Given the description of an element on the screen output the (x, y) to click on. 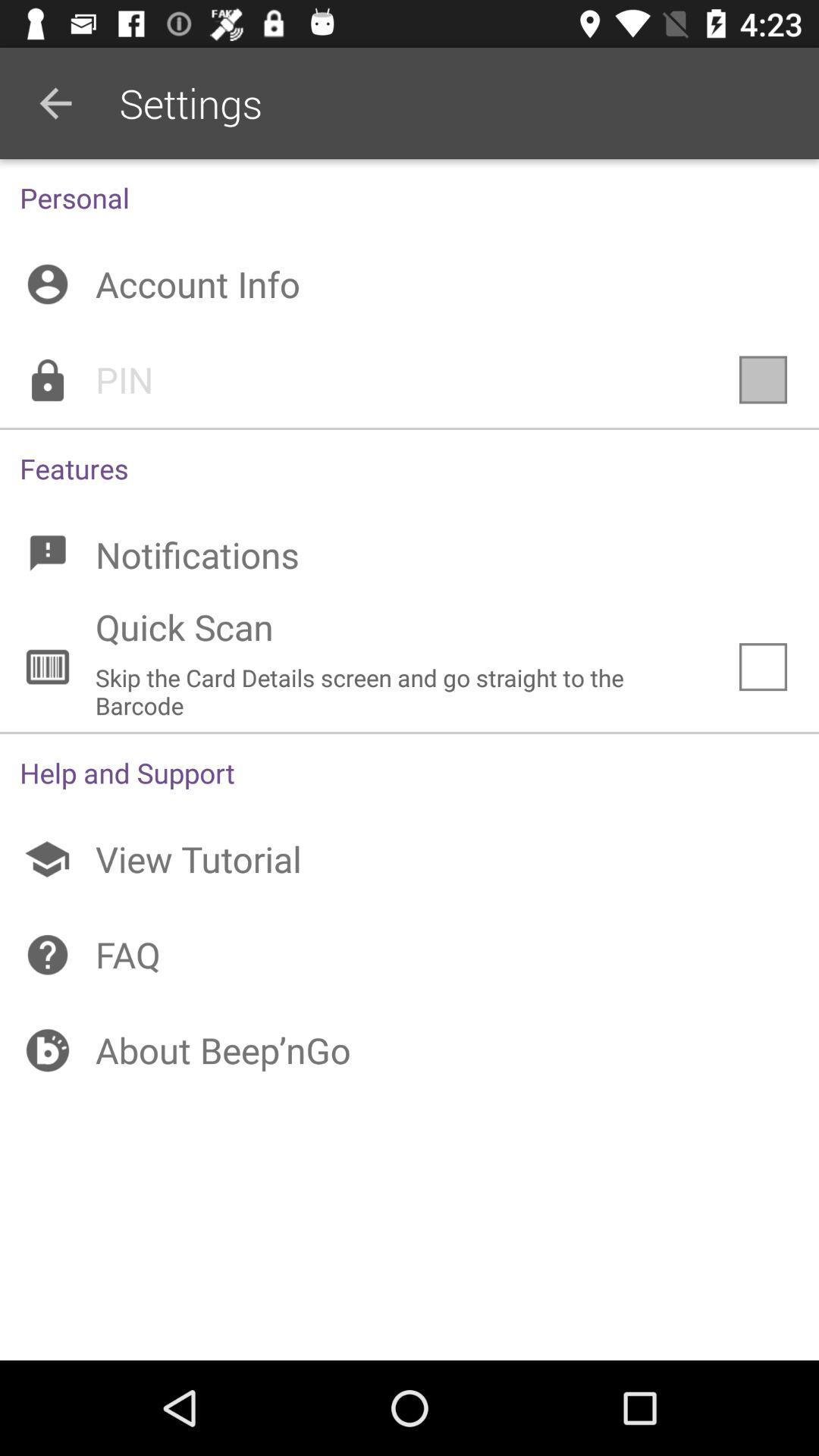
turn off icon below the personal item (409, 284)
